Given the description of an element on the screen output the (x, y) to click on. 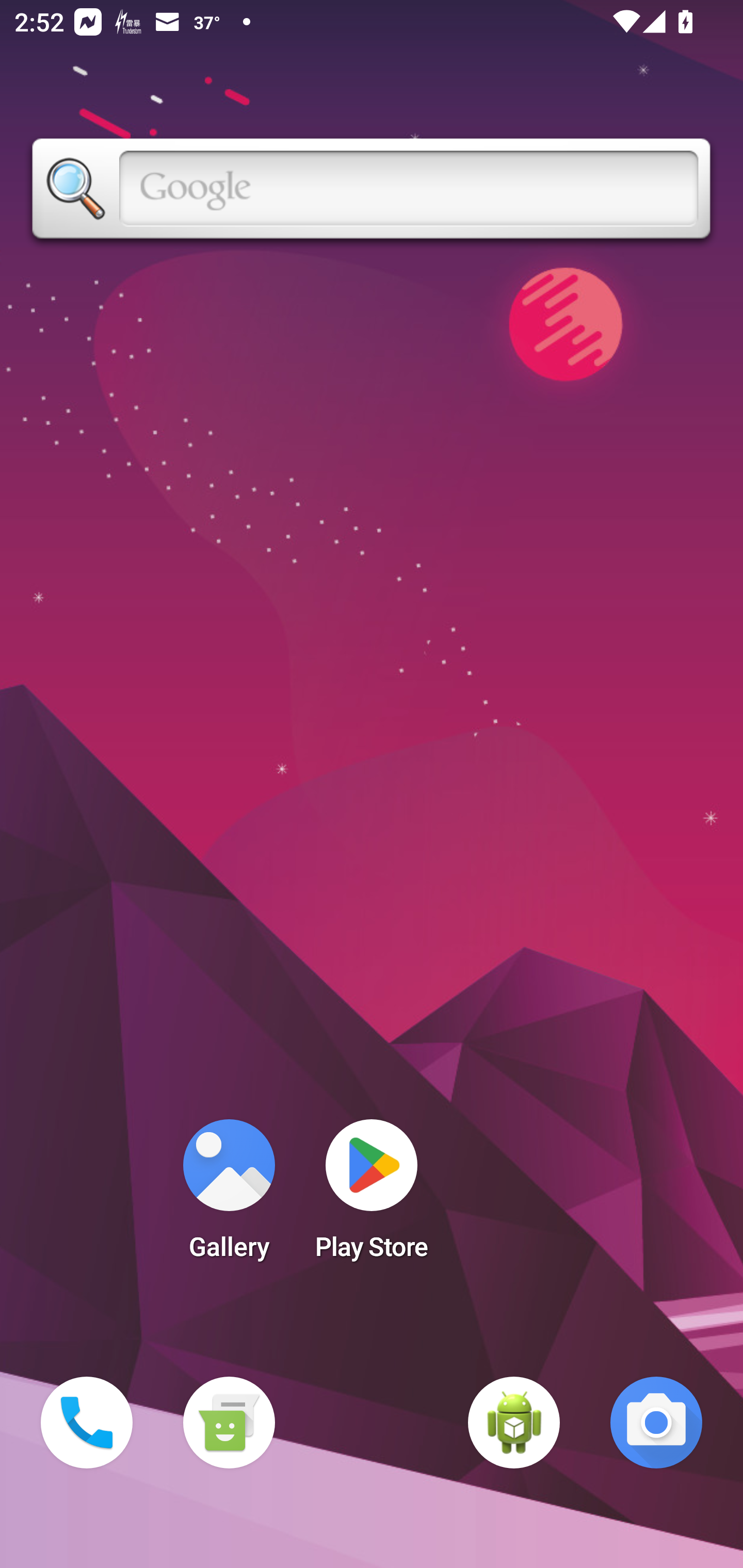
Gallery (228, 1195)
Play Store (371, 1195)
Phone (86, 1422)
Messaging (228, 1422)
WebView Browser Tester (513, 1422)
Camera (656, 1422)
